Given the description of an element on the screen output the (x, y) to click on. 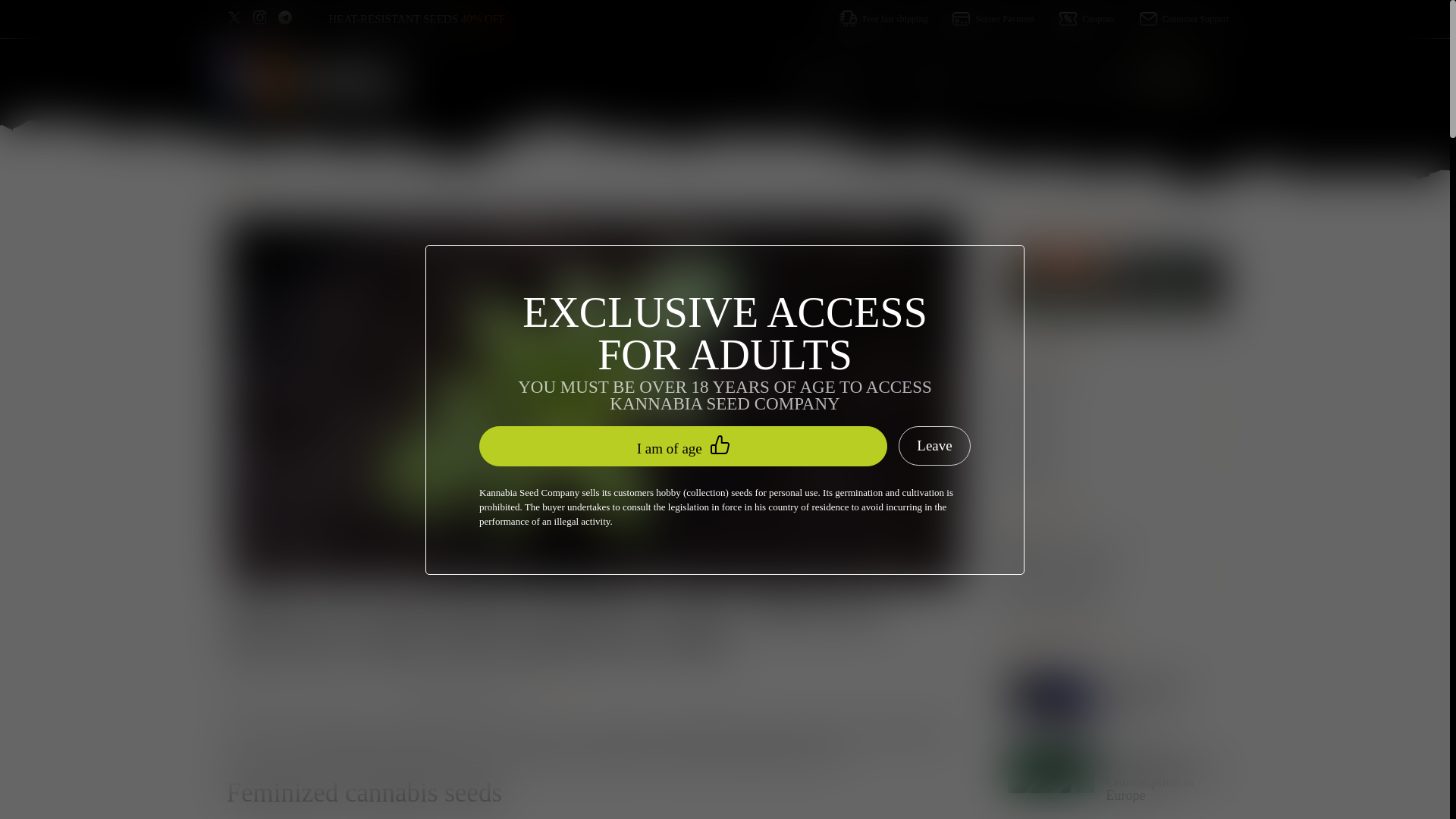
Secure Payment (980, 18)
Promos (1009, 83)
Marijuana Seeds (832, 83)
Grow (553, 693)
Cannabinoids (1115, 580)
Coupons (1074, 18)
Home (277, 197)
Can you get a hangover from weed? (1115, 698)
Back (242, 199)
